Given the description of an element on the screen output the (x, y) to click on. 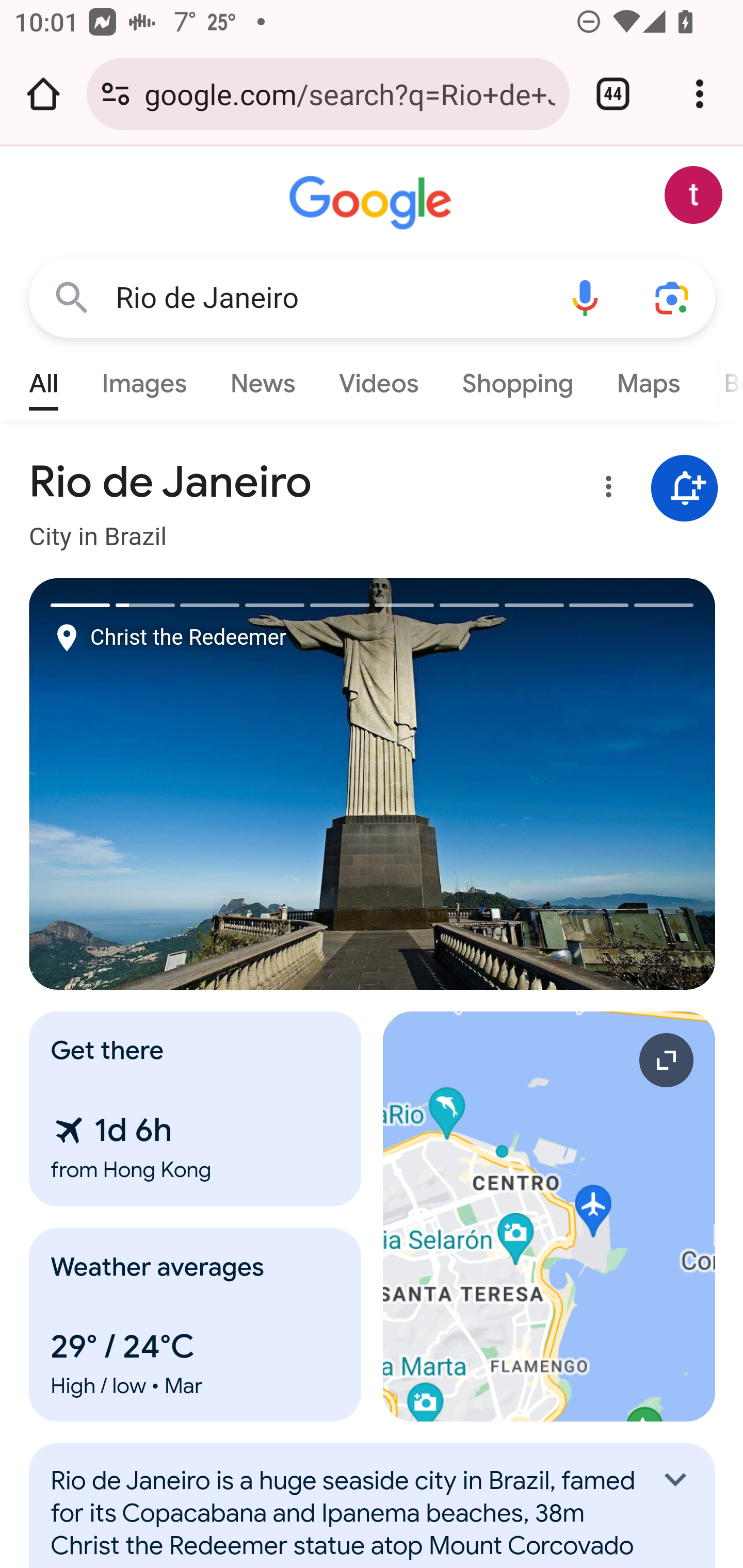
Open the home page (43, 93)
Connection is secure (115, 93)
Switch or close tabs (612, 93)
Customize and control Google Chrome (699, 93)
Google (372, 203)
Google Search (71, 296)
Search using your camera or photos (672, 296)
Rio de Janeiro (328, 297)
Images (144, 378)
News (262, 378)
Videos (378, 378)
Shopping (516, 378)
Maps (647, 378)
Get notifications about Rio de Janeiro (684, 489)
More options (605, 489)
Previous image (200, 783)
Next image (544, 783)
Expand map (549, 1216)
Weather averages 29° / 24°C High / low • Mar (195, 1324)
